Given the description of an element on the screen output the (x, y) to click on. 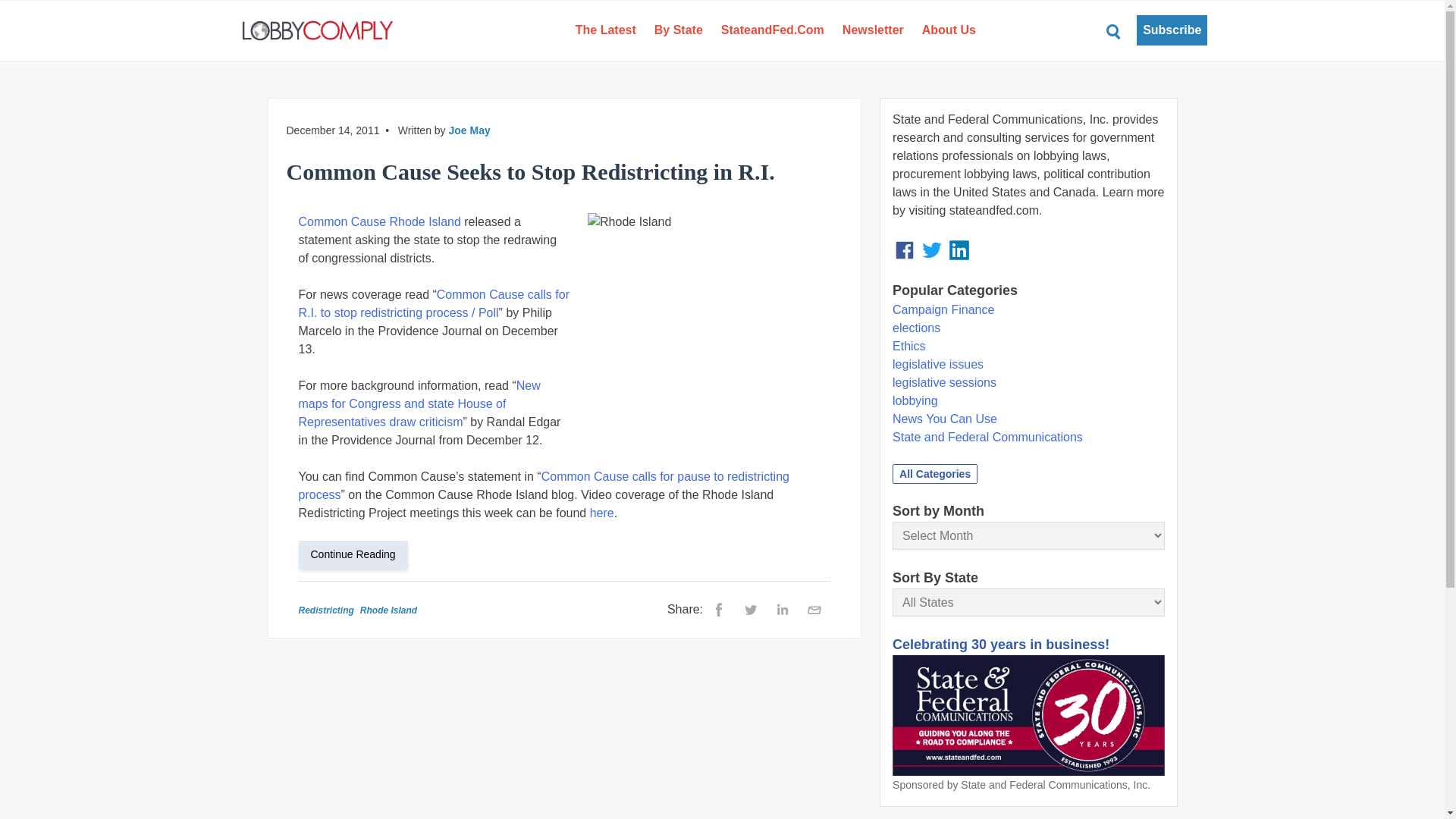
Redistricting (325, 610)
Continue Reading (359, 553)
Joe May (468, 130)
Subscribe (1172, 30)
Common Cause calls for pause to redistricting process (543, 485)
here (601, 512)
Rhode Island (708, 321)
About Us (948, 29)
elections (916, 327)
By State (678, 29)
